Given the description of an element on the screen output the (x, y) to click on. 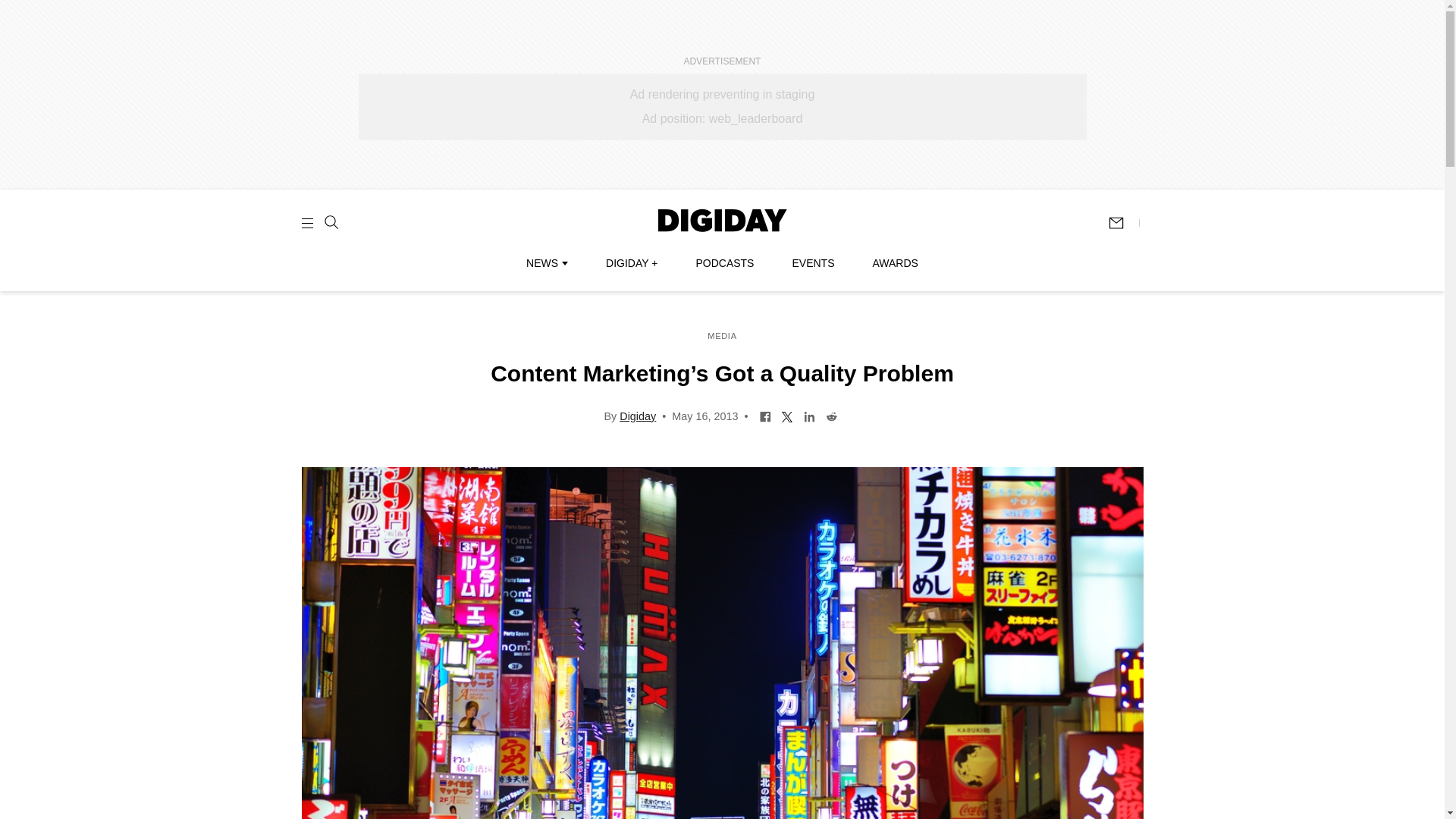
PODCASTS (725, 262)
Share on Facebook (764, 415)
EVENTS (813, 262)
Share on LinkedIn (809, 415)
Share on Twitter (786, 415)
NEWS (546, 262)
AWARDS (894, 262)
Subscribe (1123, 223)
Share on Reddit (831, 415)
